Given the description of an element on the screen output the (x, y) to click on. 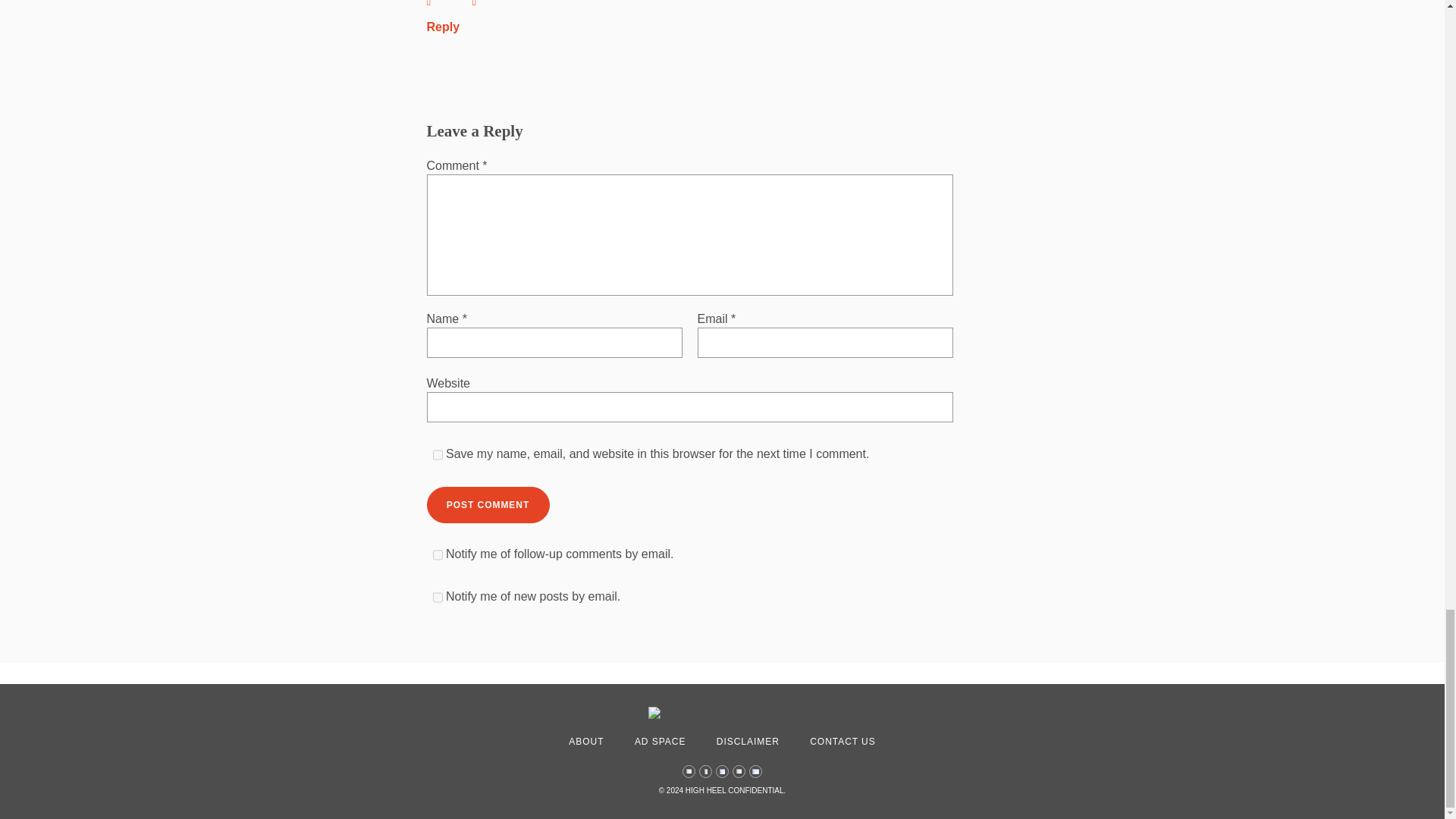
Post Comment (487, 504)
